Given the description of an element on the screen output the (x, y) to click on. 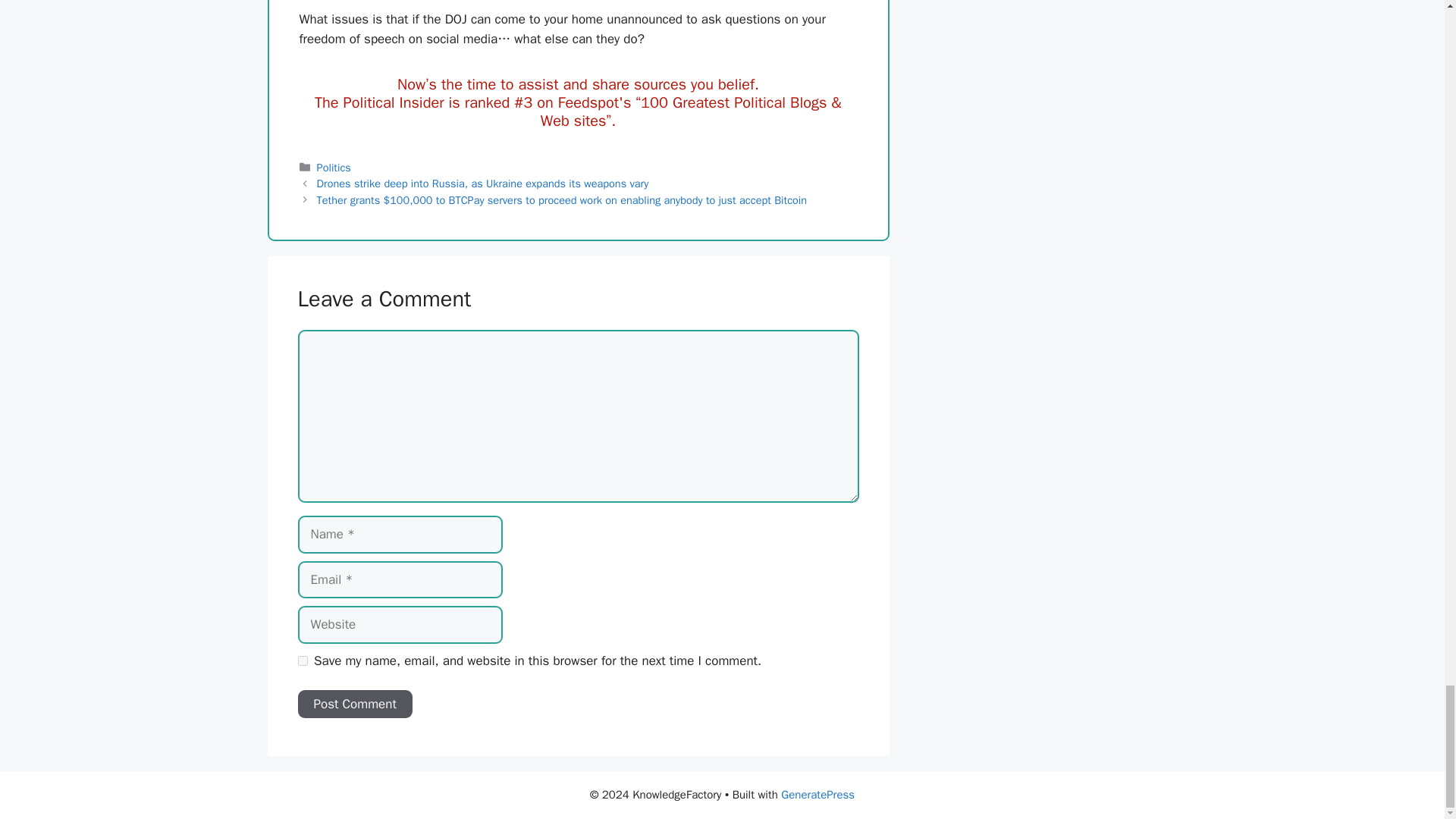
Post Comment (354, 704)
yes (302, 660)
Politics (333, 167)
GeneratePress (817, 794)
Post Comment (354, 704)
